Given the description of an element on the screen output the (x, y) to click on. 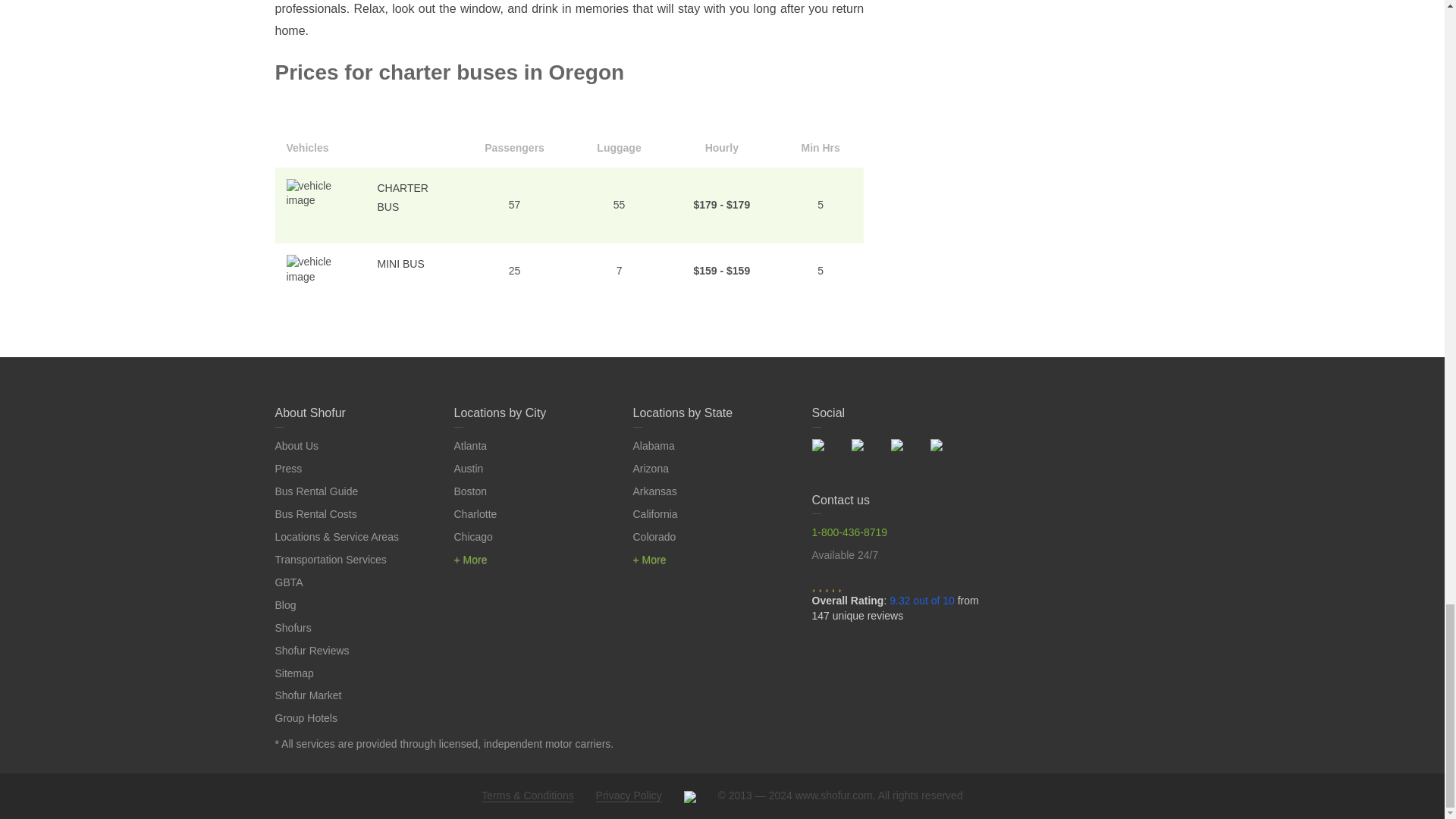
Blog (285, 604)
Press (288, 468)
Shofur Reviews (312, 650)
Sitemap (294, 672)
Transportation Services (330, 559)
Bus Rental Guide (316, 491)
About Us (296, 445)
Shofurs (293, 627)
GBTA (288, 582)
Bus Rental Costs (315, 513)
